Given the description of an element on the screen output the (x, y) to click on. 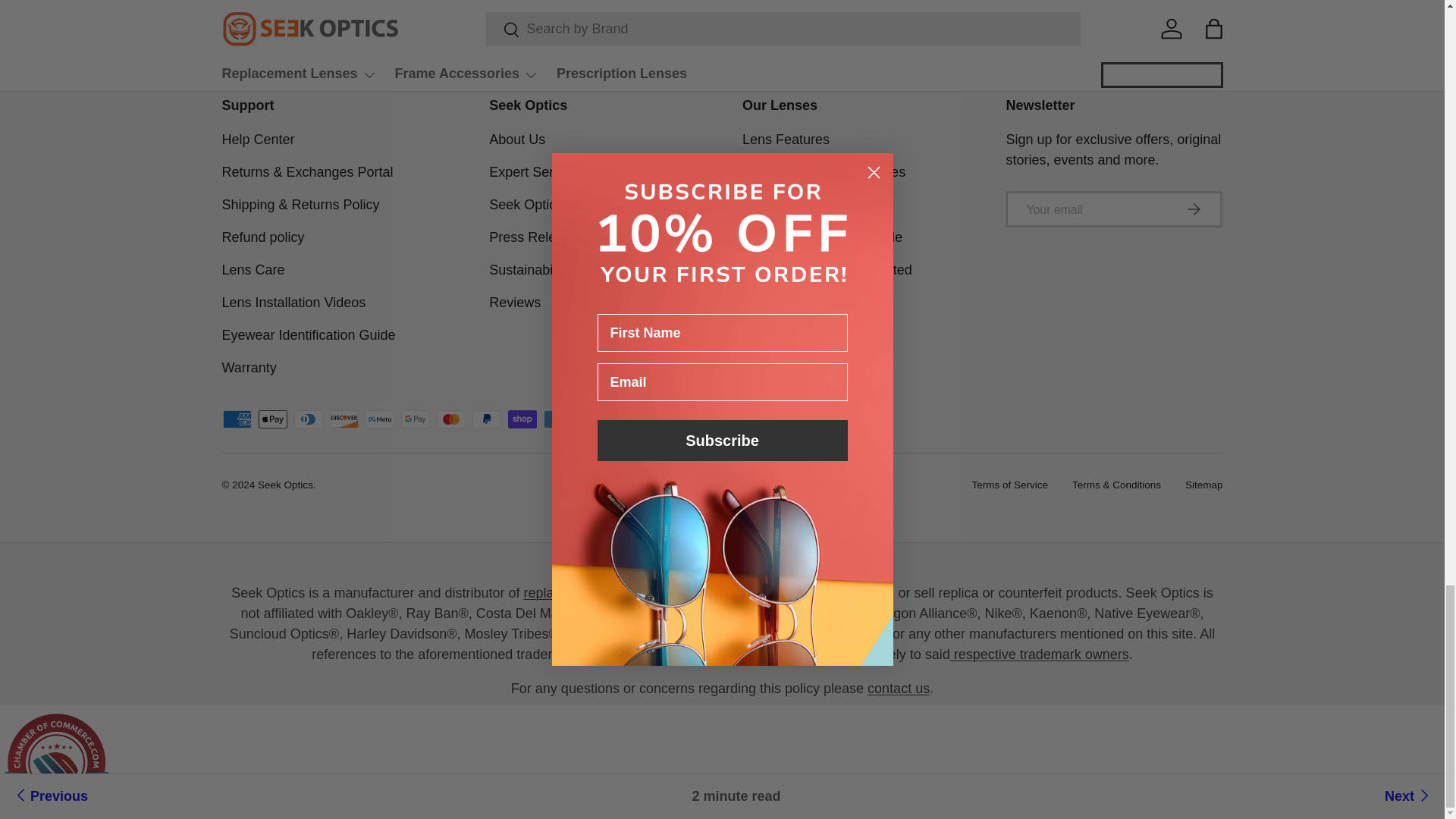
contact us (898, 688)
